Given the description of an element on the screen output the (x, y) to click on. 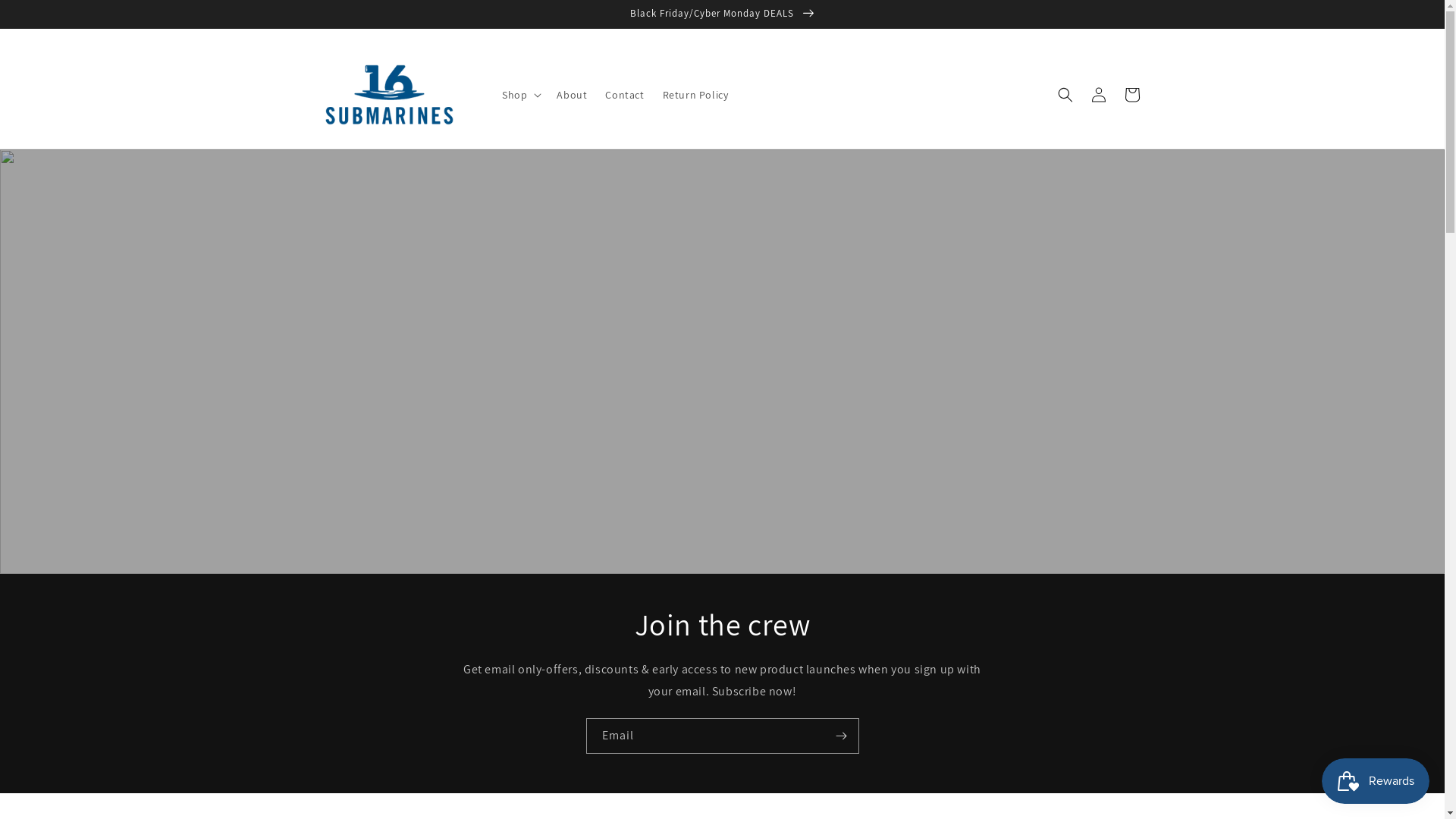
Log in Element type: text (1097, 94)
Contact Element type: text (624, 94)
About Element type: text (571, 94)
Return Policy Element type: text (695, 94)
Smile.io Rewards Program Launcher Element type: hover (1375, 780)
Black Friday/Cyber Monday DEALS Element type: text (722, 14)
Cart Element type: text (1131, 94)
